Given the description of an element on the screen output the (x, y) to click on. 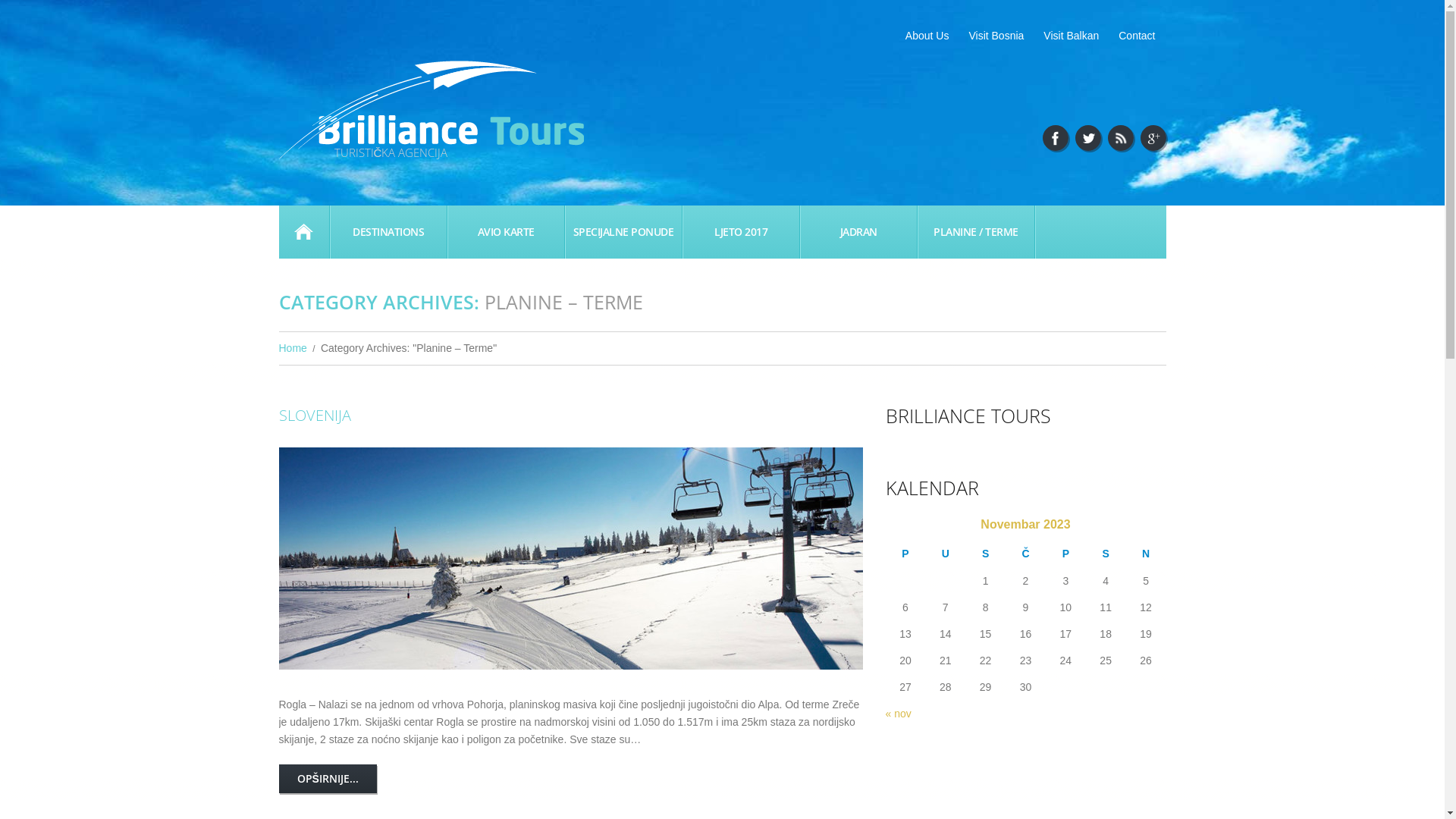
SLOVENIJA Element type: text (315, 414)
feed Element type: hover (1119, 137)
Slovenija Element type: hover (570, 558)
LJETO 2017 Element type: text (740, 230)
Contact Element type: text (1136, 35)
About Us Element type: text (927, 35)
Visit Bosnia Element type: text (995, 35)
twitter Element type: hover (1088, 137)
HOME Element type: text (304, 230)
Visit Balkan Element type: text (1070, 35)
AVIO KARTE Element type: text (505, 230)
PLANINE / TERME Element type: text (975, 230)
Home Element type: text (293, 347)
SPECIJALNE PONUDE Element type: text (623, 230)
facebook Element type: hover (1054, 137)
DESTINATIONS Element type: text (388, 230)
JADRAN Element type: text (858, 230)
google Element type: hover (1153, 137)
